Given the description of an element on the screen output the (x, y) to click on. 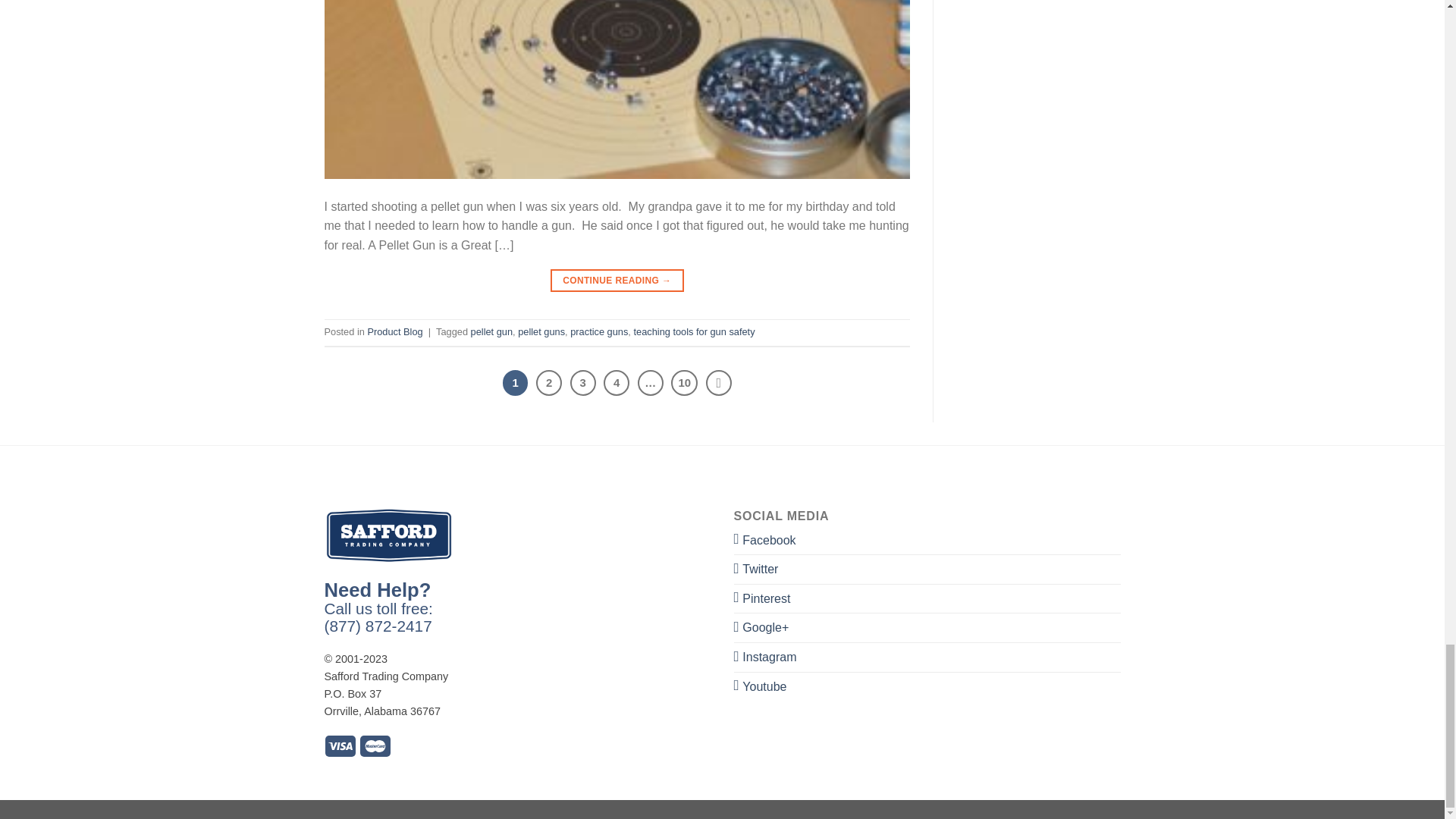
Follow us on Facebook (764, 540)
Follow us on Instagram (764, 656)
Follow us on Youtube (760, 686)
Follow us on Twitter (755, 569)
Follow us on Pinterest (761, 598)
